Given the description of an element on the screen output the (x, y) to click on. 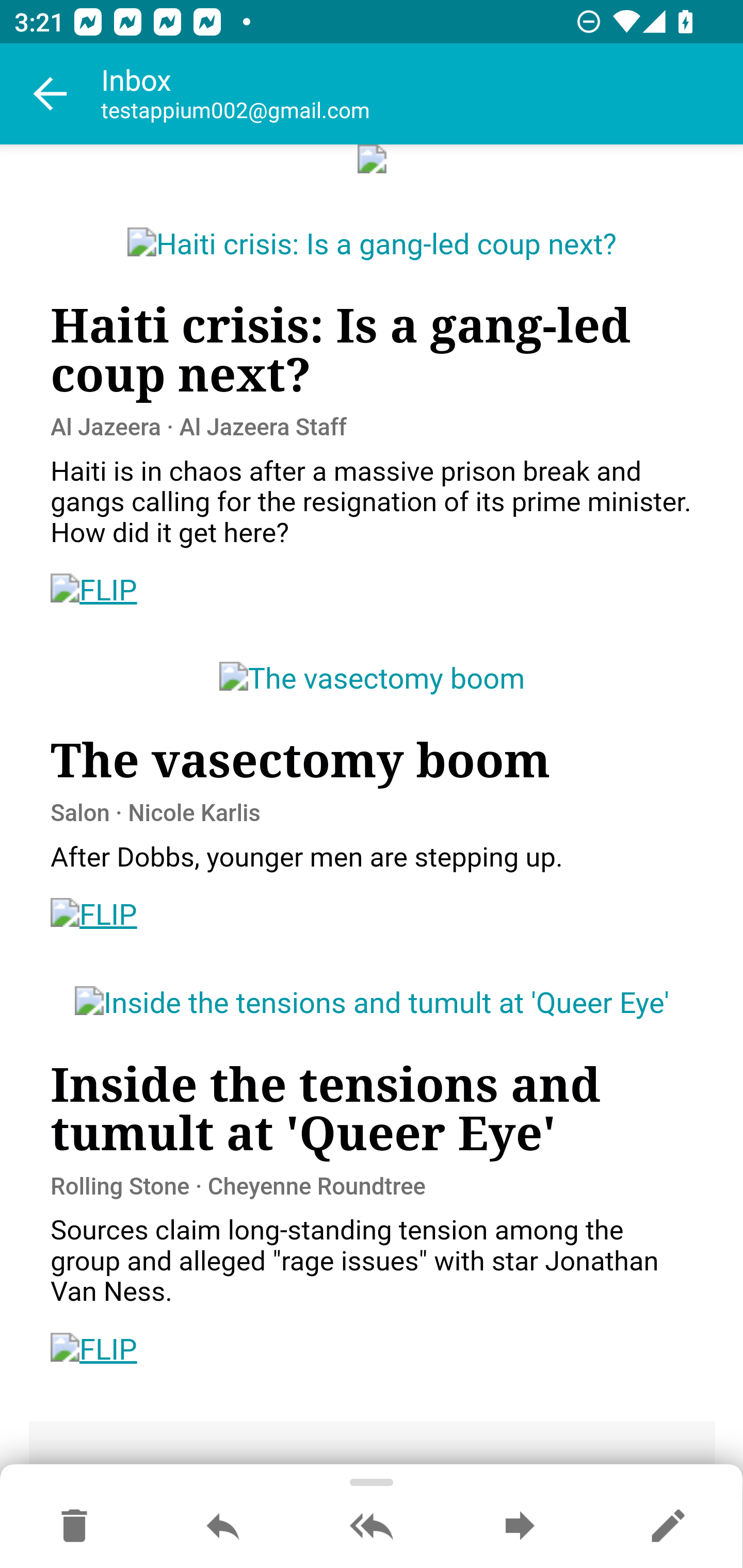
Navigate up (50, 93)
Inbox testappium002@gmail.com (422, 93)
data: (372, 159)
FLIP (93, 591)
FLIP (93, 916)
FLIP (93, 1350)
Move to Deleted (74, 1527)
Reply (222, 1527)
Reply all (371, 1527)
Forward (519, 1527)
Reply as new (667, 1527)
